Given the description of an element on the screen output the (x, y) to click on. 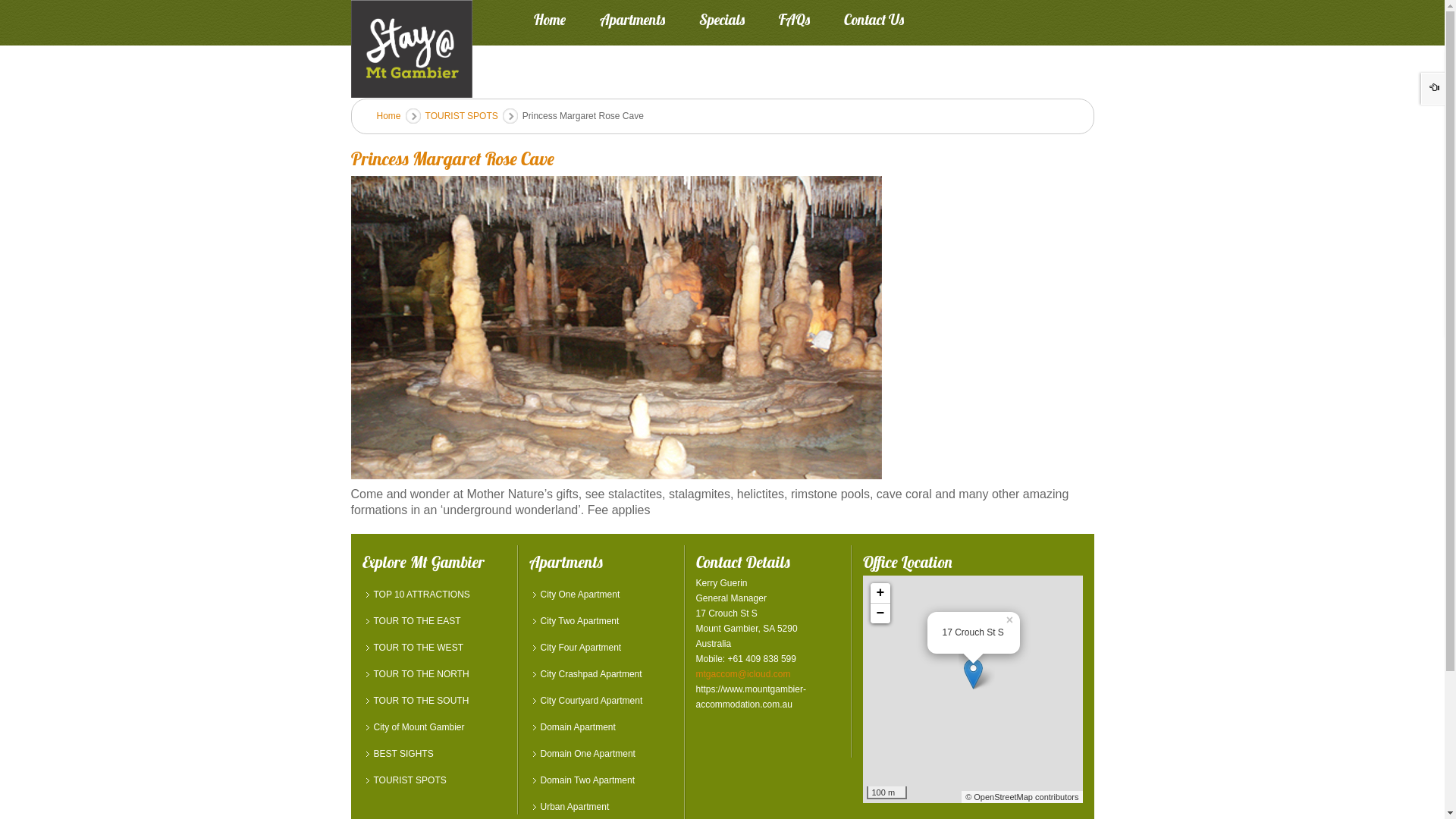
BEST SIGHTS Element type: text (433, 753)
Domain Apartment Element type: text (600, 727)
Contact Us Element type: text (873, 23)
City Courtyard Apartment Element type: text (600, 700)
TOP 10 ATTRACTIONS Element type: text (433, 594)
TOUR TO THE NORTH Element type: text (433, 674)
TOUR TO THE SOUTH Element type: text (433, 700)
Stay @ Mt. Gambier Element type: hover (410, 48)
TOUR TO THE EAST Element type: text (433, 620)
TOUR TO THE WEST Element type: text (433, 647)
TOURIST SPOTS Element type: text (433, 780)
+ Element type: text (880, 593)
City Four Apartment Element type: text (600, 647)
Home Element type: text (388, 115)
Domain One Apartment Element type: text (600, 753)
City Crashpad Apartment Element type: text (600, 674)
Apartments Element type: text (632, 23)
TOURIST SPOTS Element type: text (461, 115)
FAQs Element type: text (794, 23)
Home Element type: text (549, 23)
City One Apartment Element type: text (600, 594)
Urban Apartment Element type: text (600, 806)
City Two Apartment Element type: text (600, 620)
mtgaccom@icloud.com Element type: text (743, 673)
Princess Margaret Rose Cave Element type: text (451, 158)
City of Mount Gambier Element type: text (433, 727)
Domain Two Apartment Element type: text (600, 780)
